Given the description of an element on the screen output the (x, y) to click on. 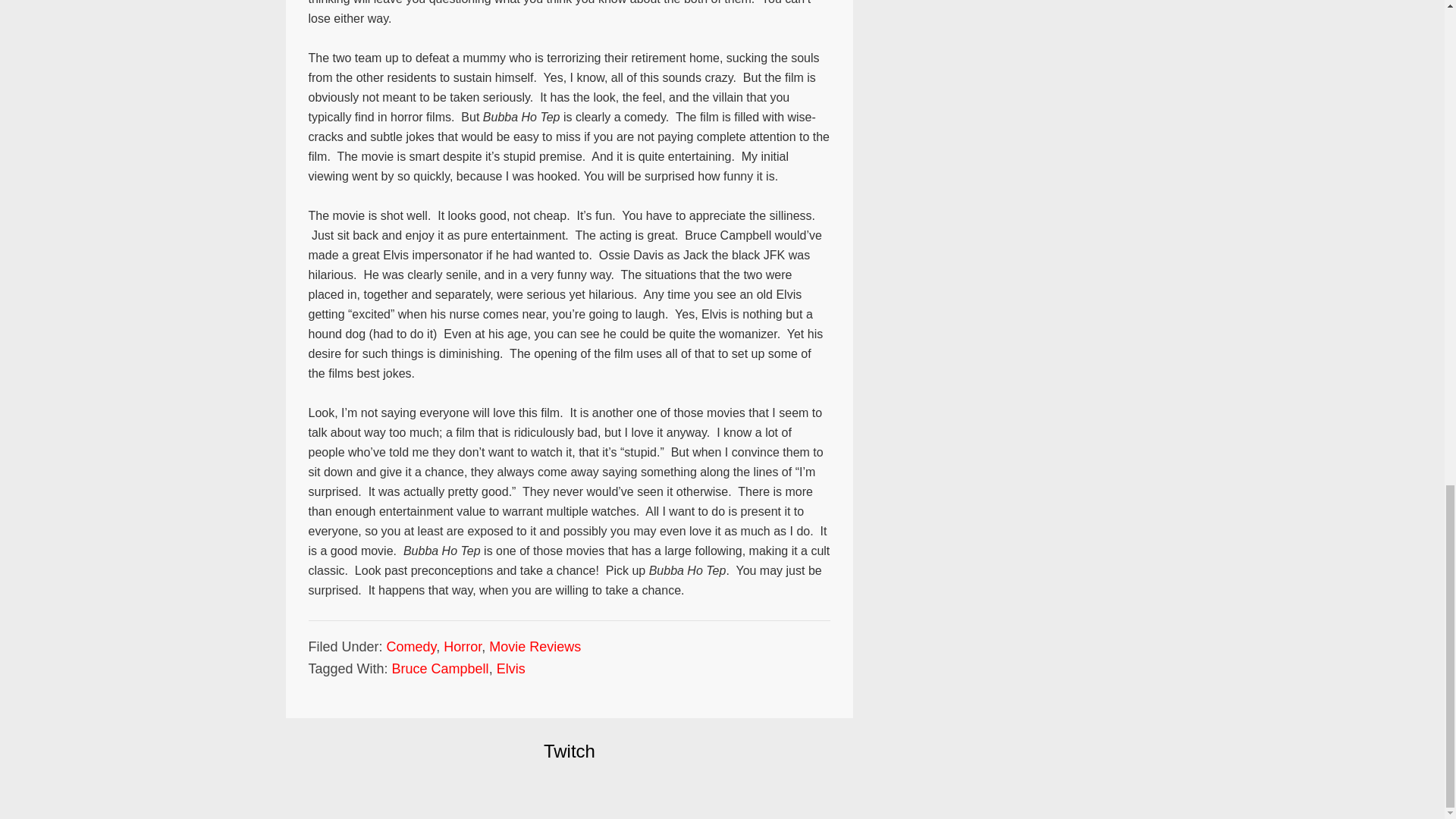
Elvis (510, 668)
Movie Reviews (534, 646)
Horror (462, 646)
Bruce Campbell (440, 668)
Comedy (411, 646)
